Given the description of an element on the screen output the (x, y) to click on. 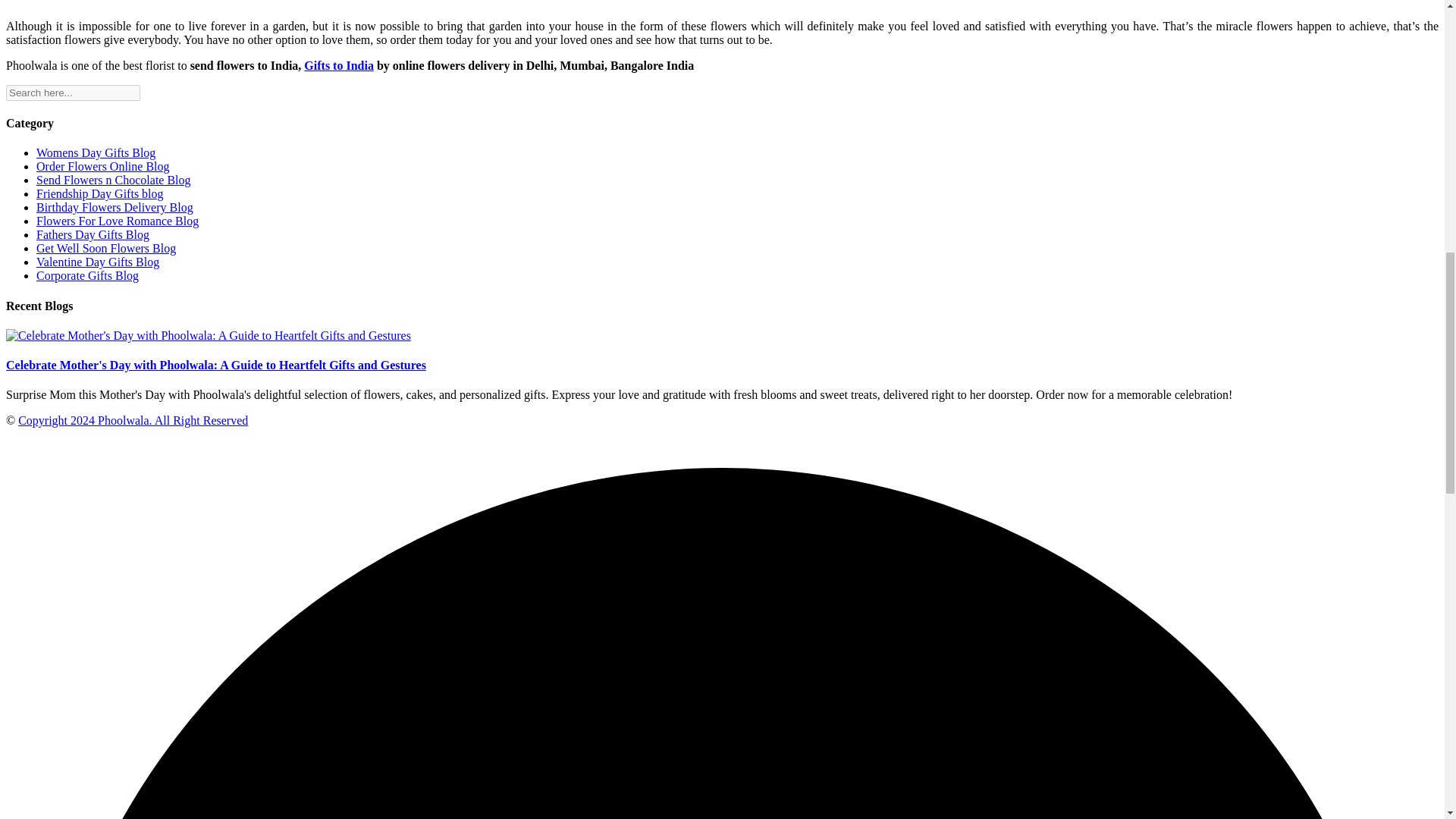
Gifts to India (339, 65)
